Given the description of an element on the screen output the (x, y) to click on. 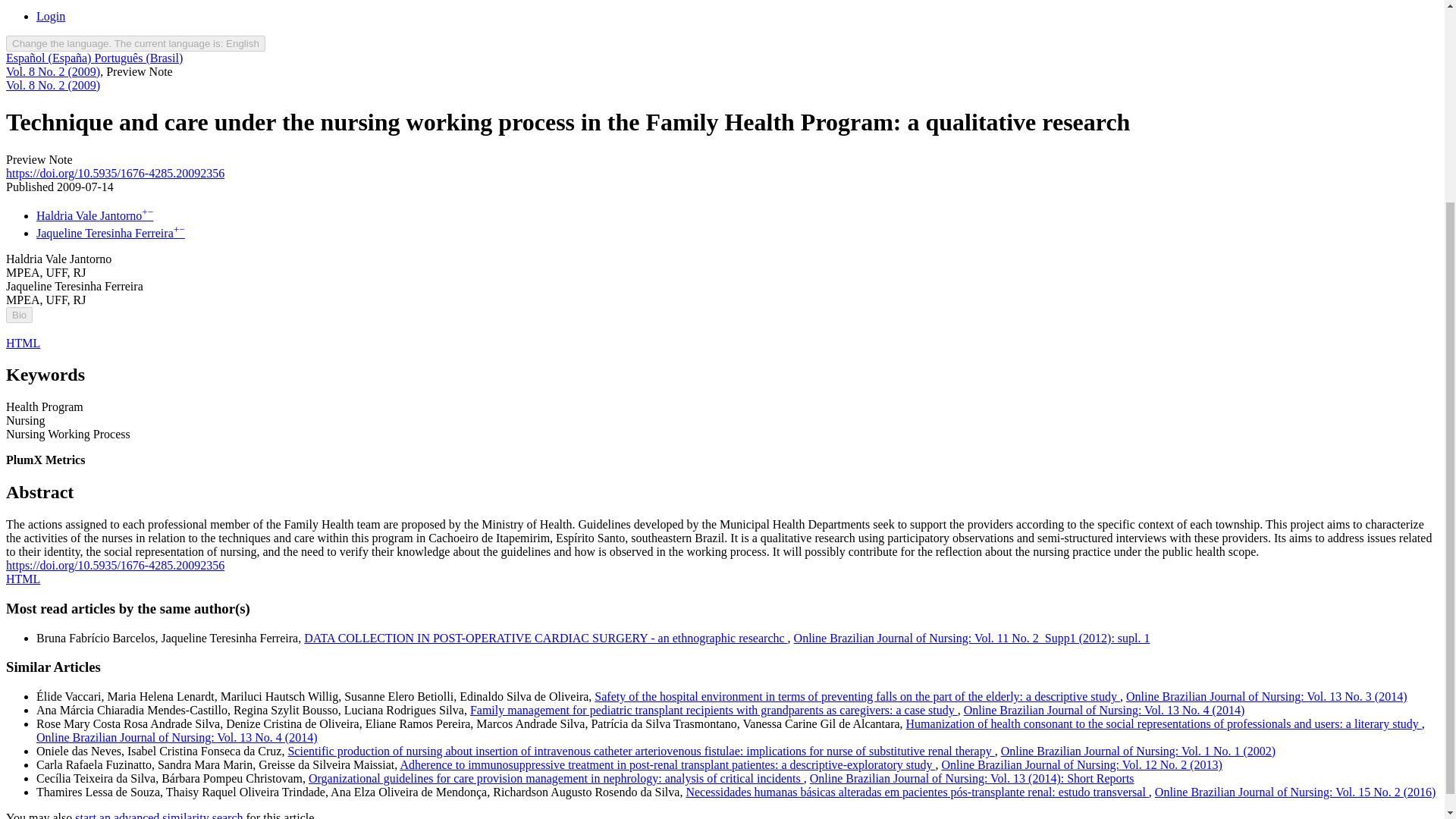
Change the language. The current language is: English (134, 43)
Bio (18, 314)
HTML (22, 342)
HTML (22, 578)
Login (50, 15)
